Given the description of an element on the screen output the (x, y) to click on. 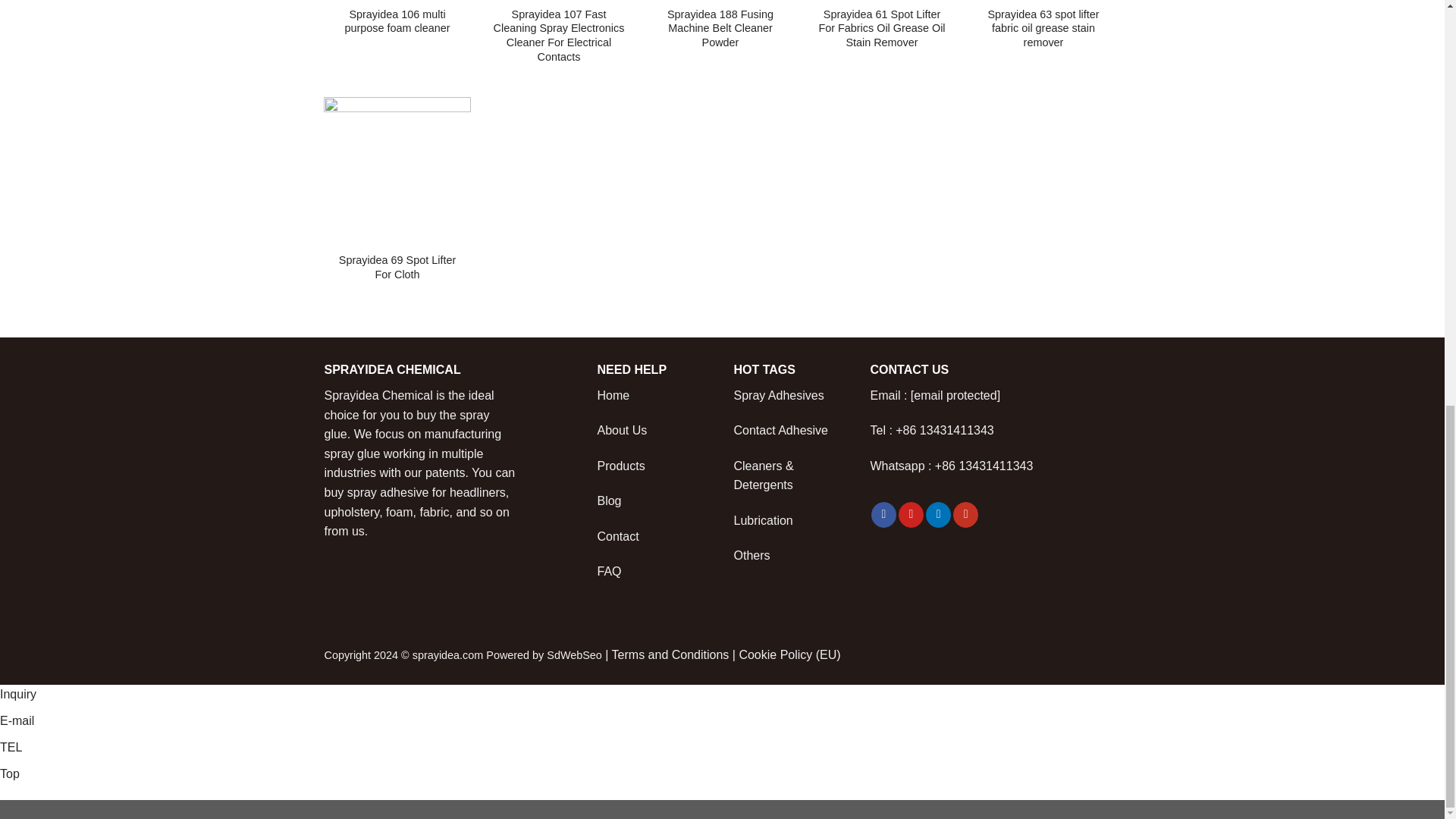
Follow on YouTube (965, 514)
Follow on Pinterest (910, 514)
Follow on Facebook (883, 514)
Follow on LinkedIn (938, 514)
